Given the description of an element on the screen output the (x, y) to click on. 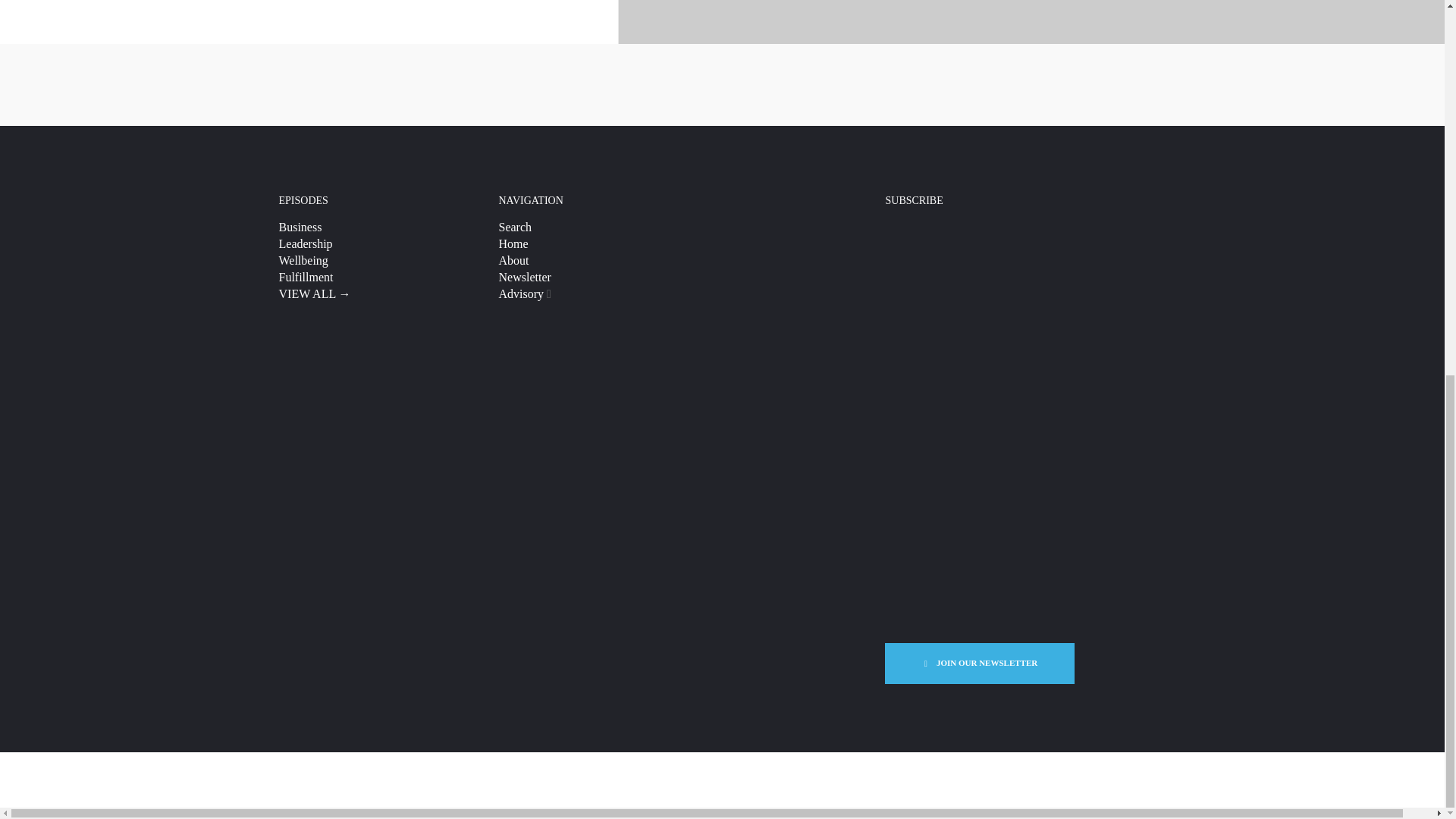
Leadership (306, 243)
Listen on Spotify (722, 84)
Listen on Google Podcasts (903, 84)
Wellbeing (304, 259)
Listen on SoundCloud (1083, 84)
Search (515, 226)
Business (300, 226)
Fulfillment (306, 277)
Listen on Apple Podcasts (542, 84)
